Given the description of an element on the screen output the (x, y) to click on. 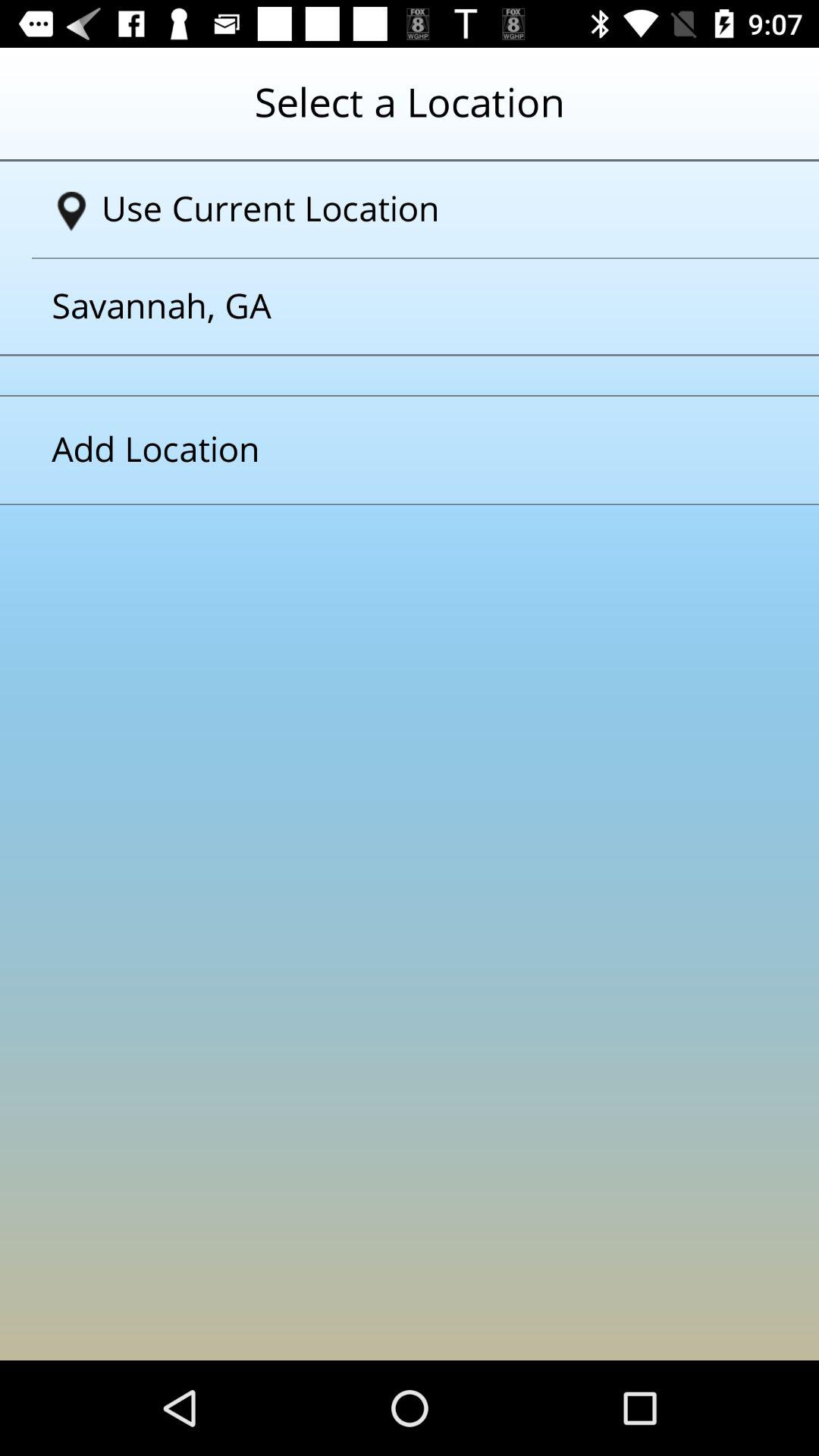
heading of the page (409, 114)
select the text use current location (415, 209)
